Given the description of an element on the screen output the (x, y) to click on. 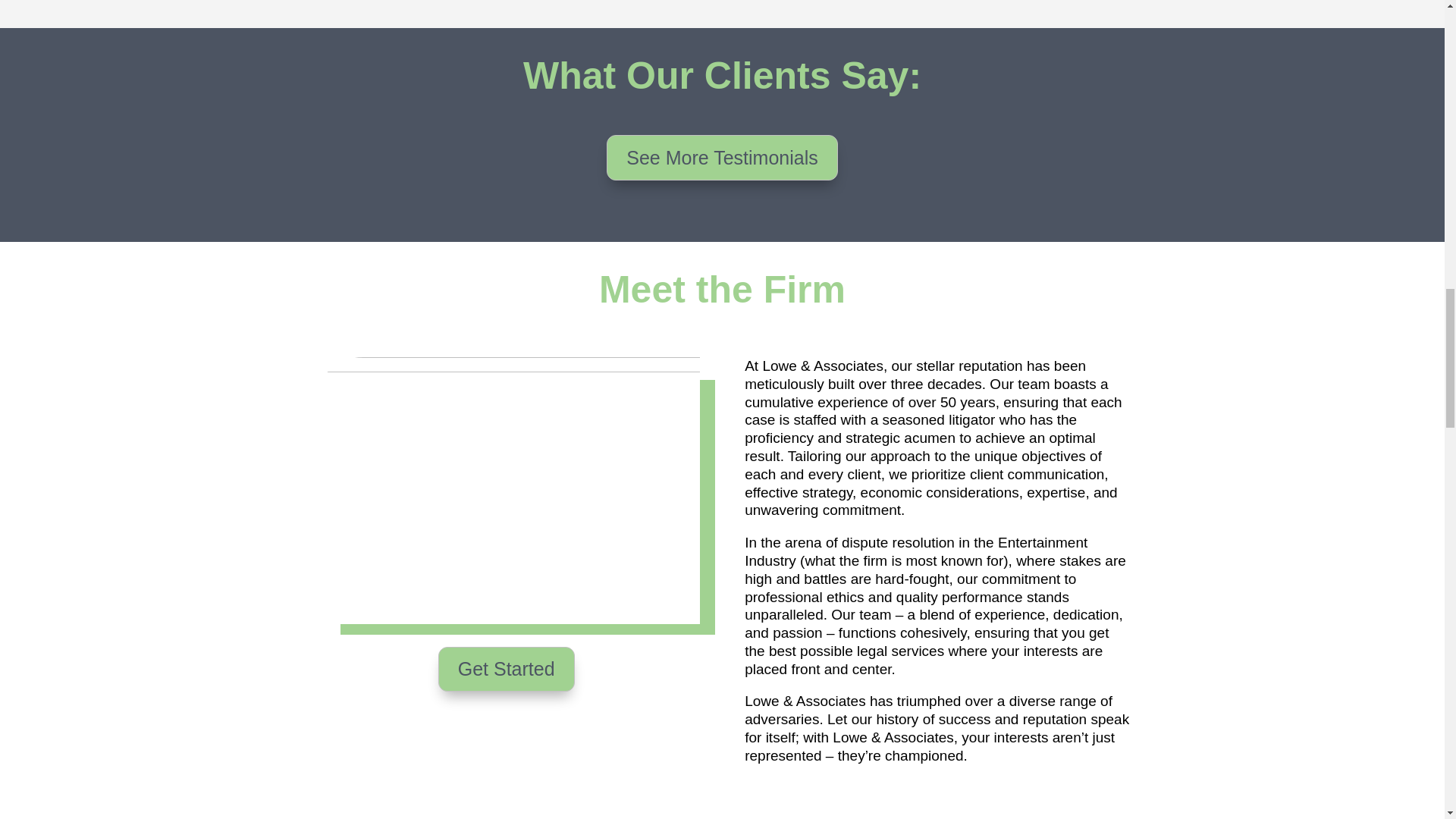
Steven Lowe High Res (505, 490)
